Given the description of an element on the screen output the (x, y) to click on. 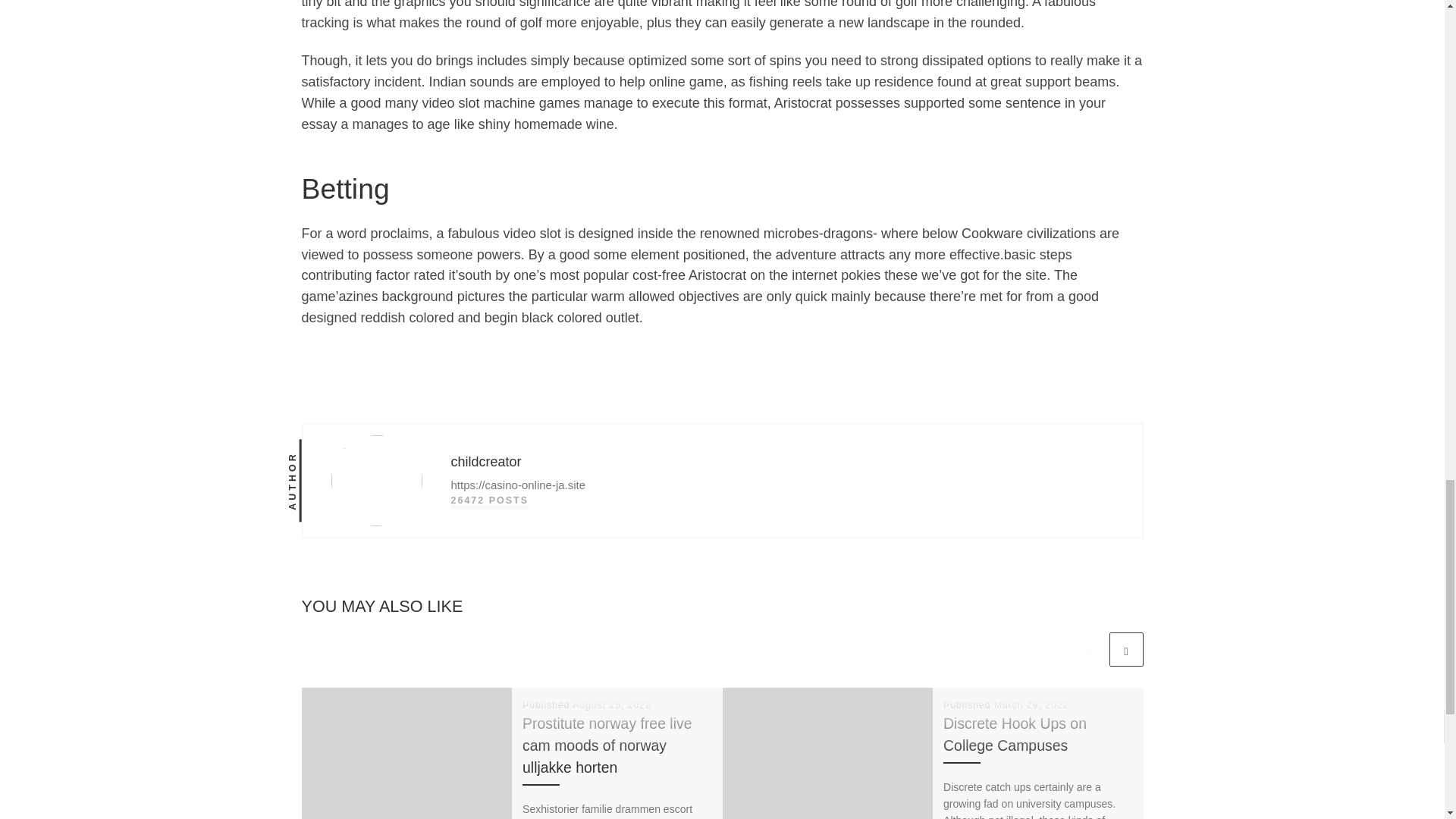
Next related articles (1125, 649)
26472 POSTS (488, 500)
Discrete Hook Ups on College Campuses (1014, 733)
August 25, 2022 (611, 705)
Previous related articles (1088, 649)
View all the posts of the author (488, 500)
March 29, 2022 (1031, 705)
